Given the description of an element on the screen output the (x, y) to click on. 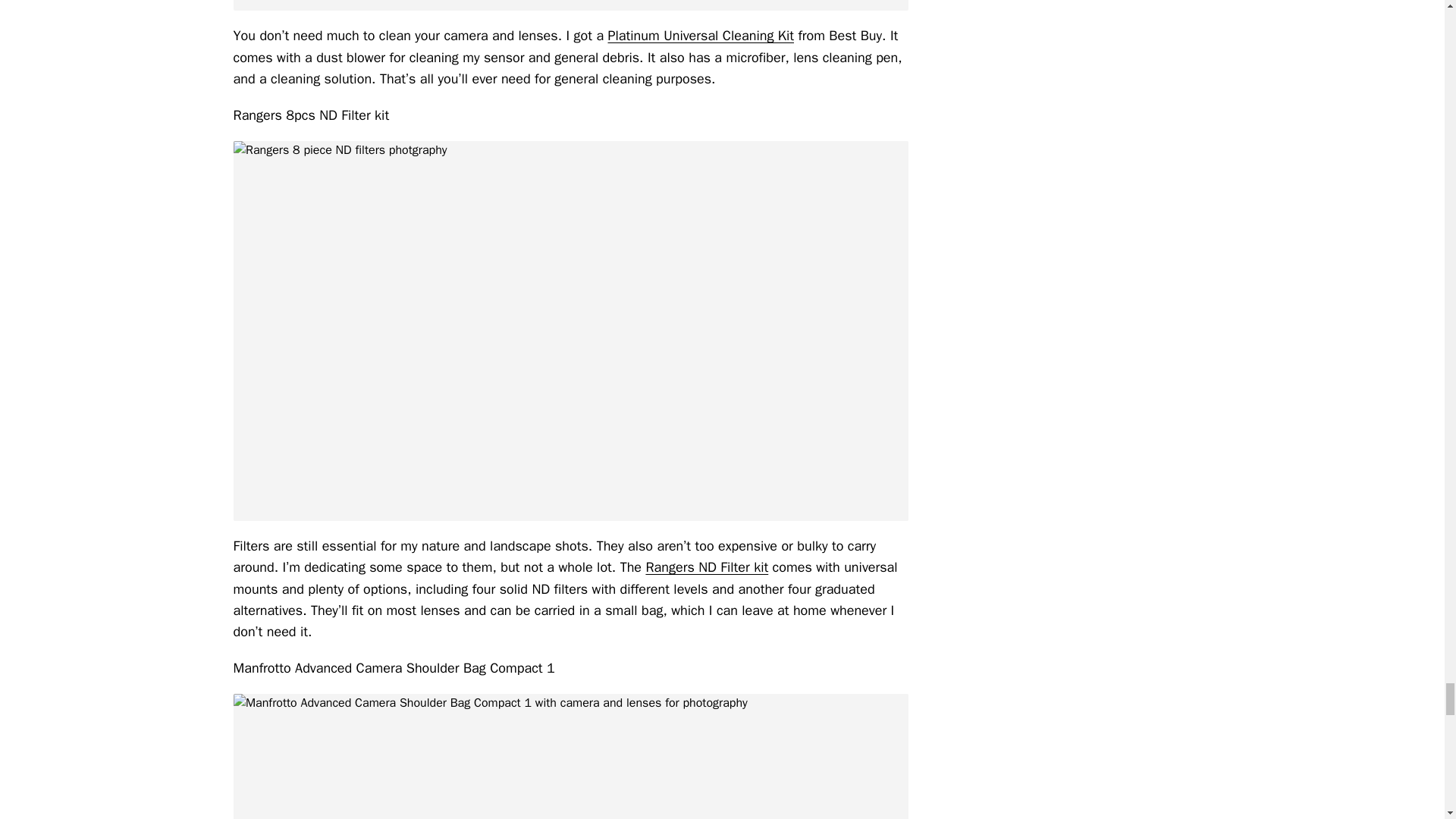
Platinum Universal Cleaning Kit (700, 35)
Rangers ND Filter kit (706, 566)
